Given the description of an element on the screen output the (x, y) to click on. 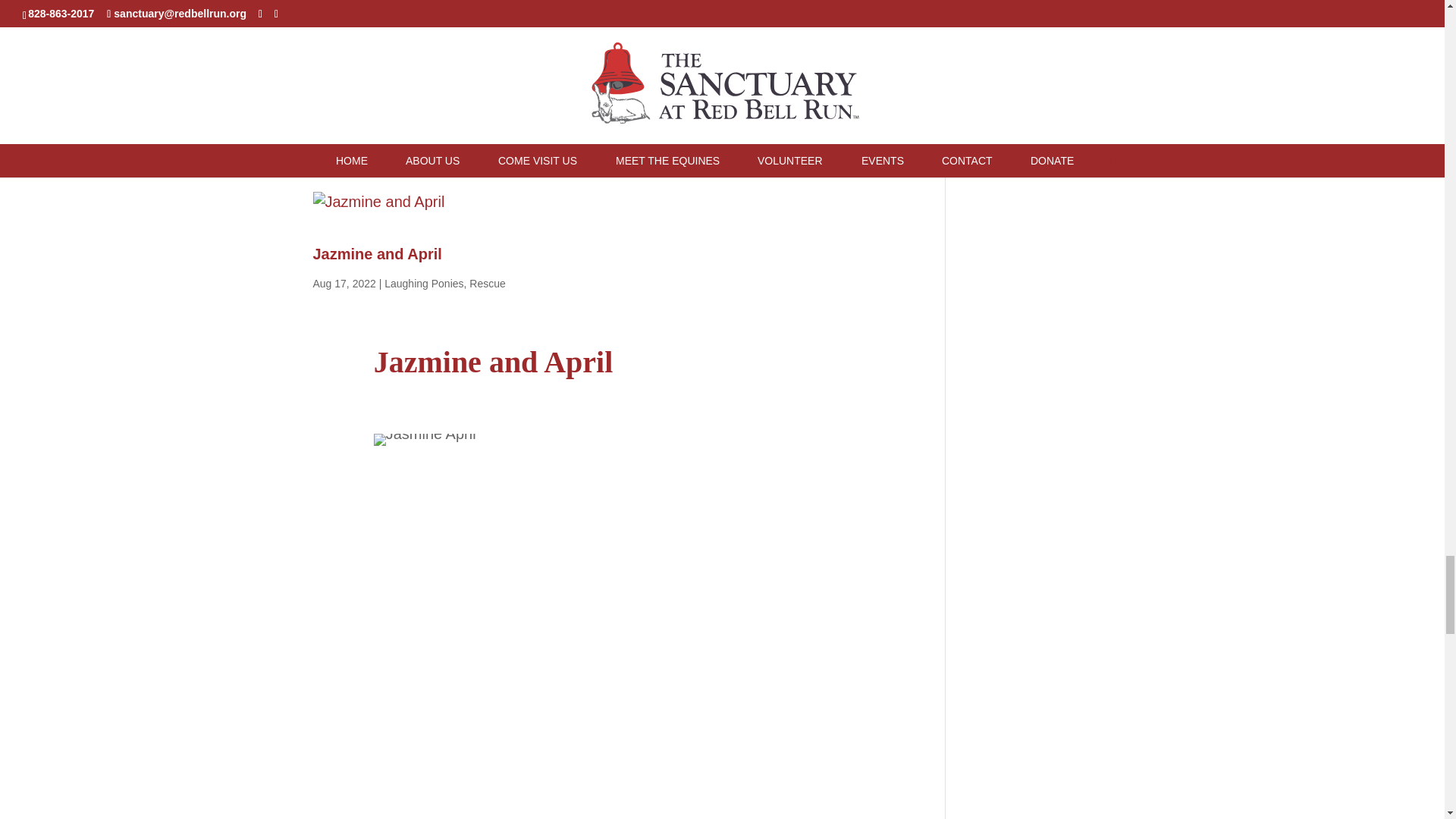
Moonshine6 Kristin (610, 110)
Moonshine Kristin (440, 110)
Jazmine and April (377, 253)
